Given the description of an element on the screen output the (x, y) to click on. 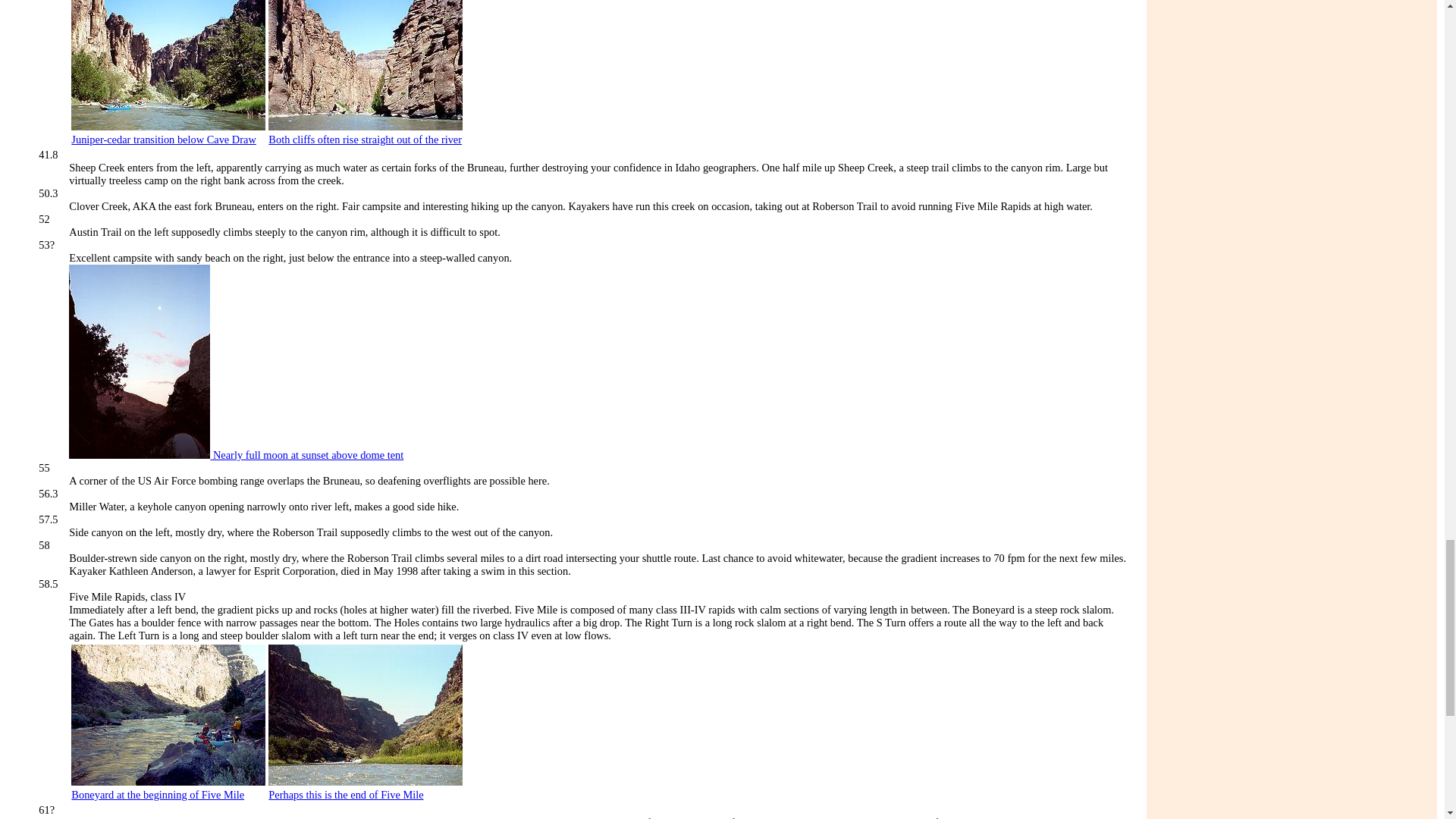
Perhaps this is the end of Five Mile (345, 794)
Boneyard at the beginning of Five Mile (157, 794)
Nearly full moon at sunset above dome tent (235, 454)
Juniper-cedar transition below Cave Draw (163, 139)
Both cliffs often rise straight out of the river (364, 139)
